Given the description of an element on the screen output the (x, y) to click on. 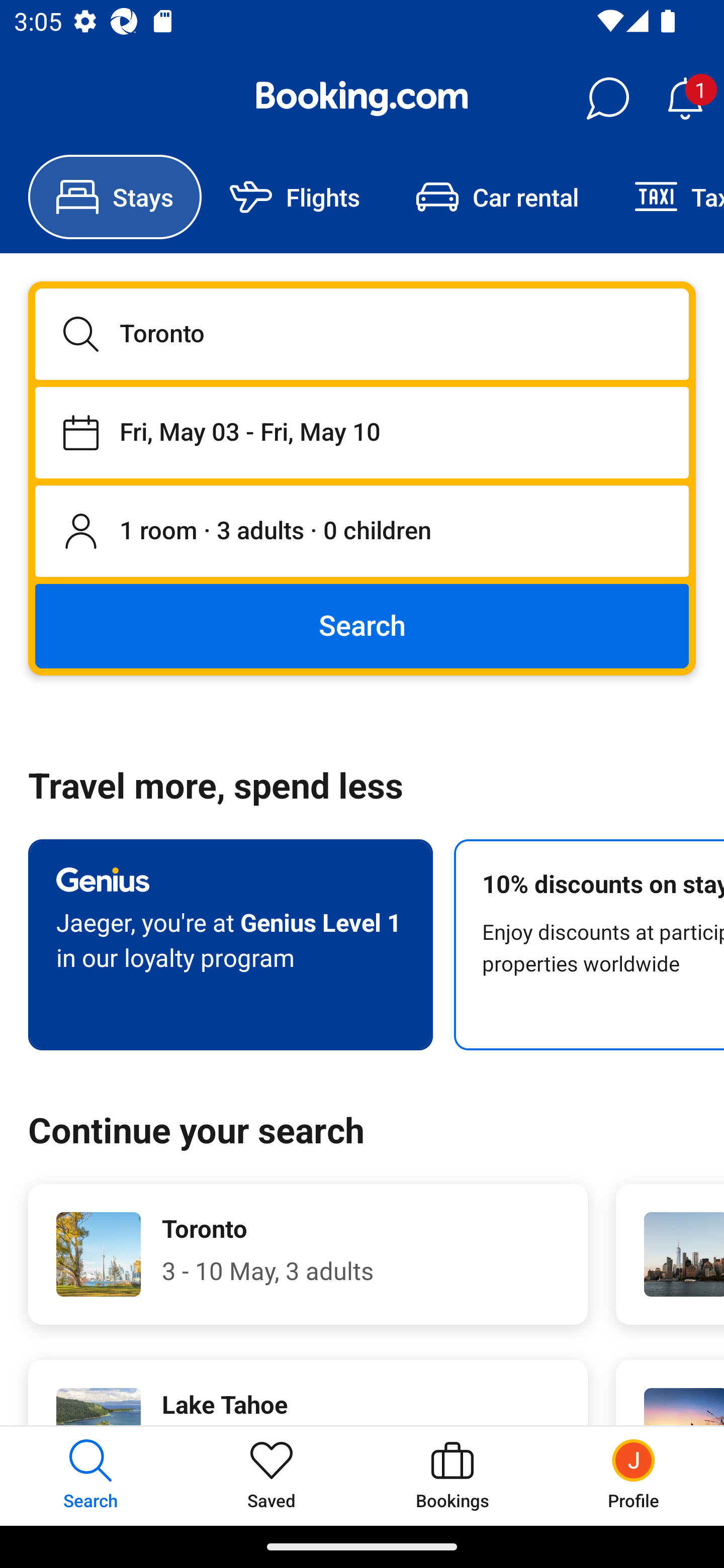
Messages (607, 98)
Notifications (685, 98)
Stays (114, 197)
Flights (294, 197)
Car rental (497, 197)
Taxi (665, 197)
Toronto (361, 333)
Staying from Fri, May 03 until Fri, May 10 (361, 432)
1 room, 3 adults, 0 children (361, 531)
Search (361, 625)
Toronto 3 - 10 May, 3 adults (307, 1253)
Saved (271, 1475)
Bookings (452, 1475)
Profile (633, 1475)
